Given the description of an element on the screen output the (x, y) to click on. 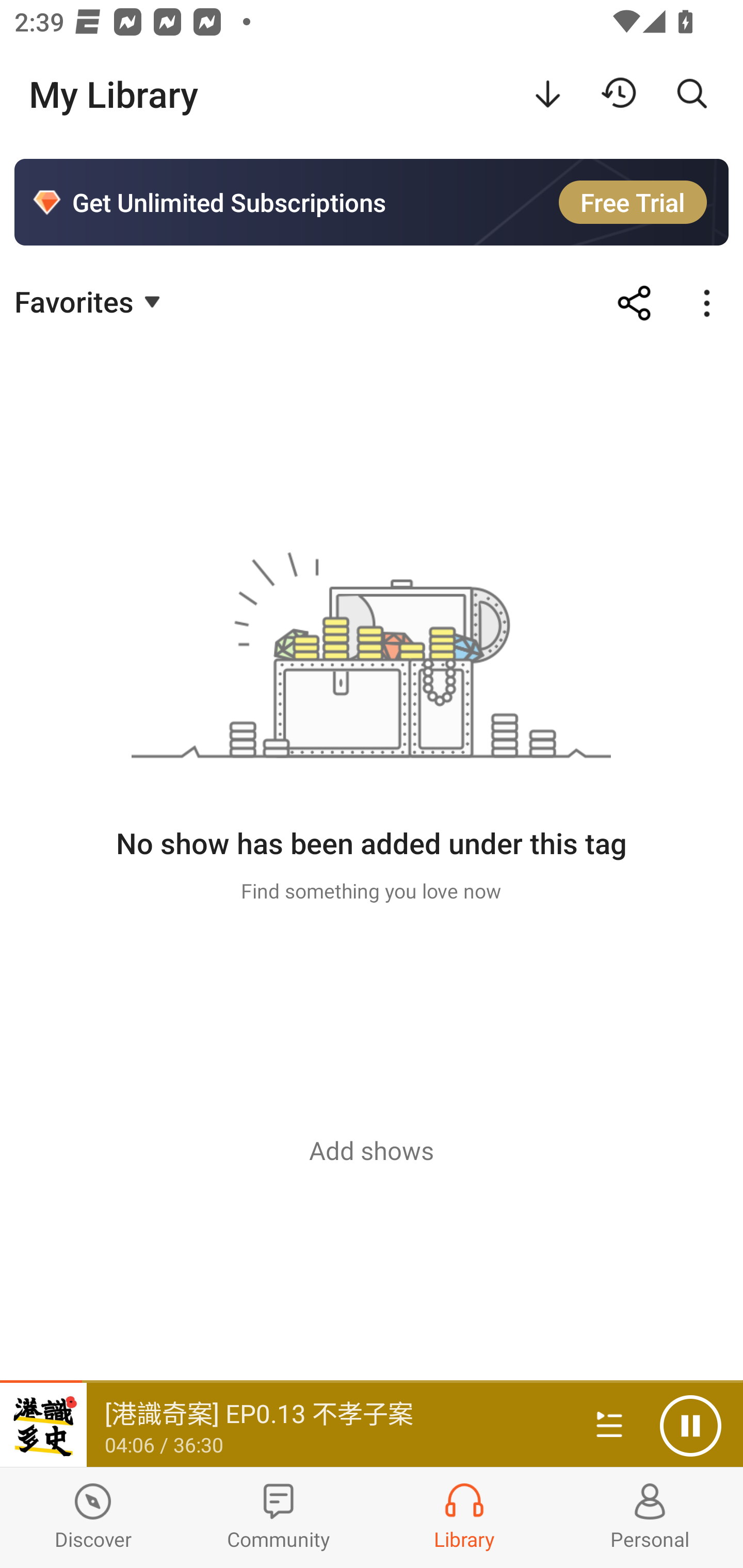
Get Unlimited Subscriptions Free Trial (371, 202)
Free Trial (632, 202)
Favorites (90, 300)
Add shows (371, 1150)
[港識奇案] EP0.13 不孝子案 04:06 / 36:30 (283, 1424)
Pause (690, 1425)
Discover (92, 1517)
Community (278, 1517)
Library (464, 1517)
Profiles and Settings Personal (650, 1517)
